Given the description of an element on the screen output the (x, y) to click on. 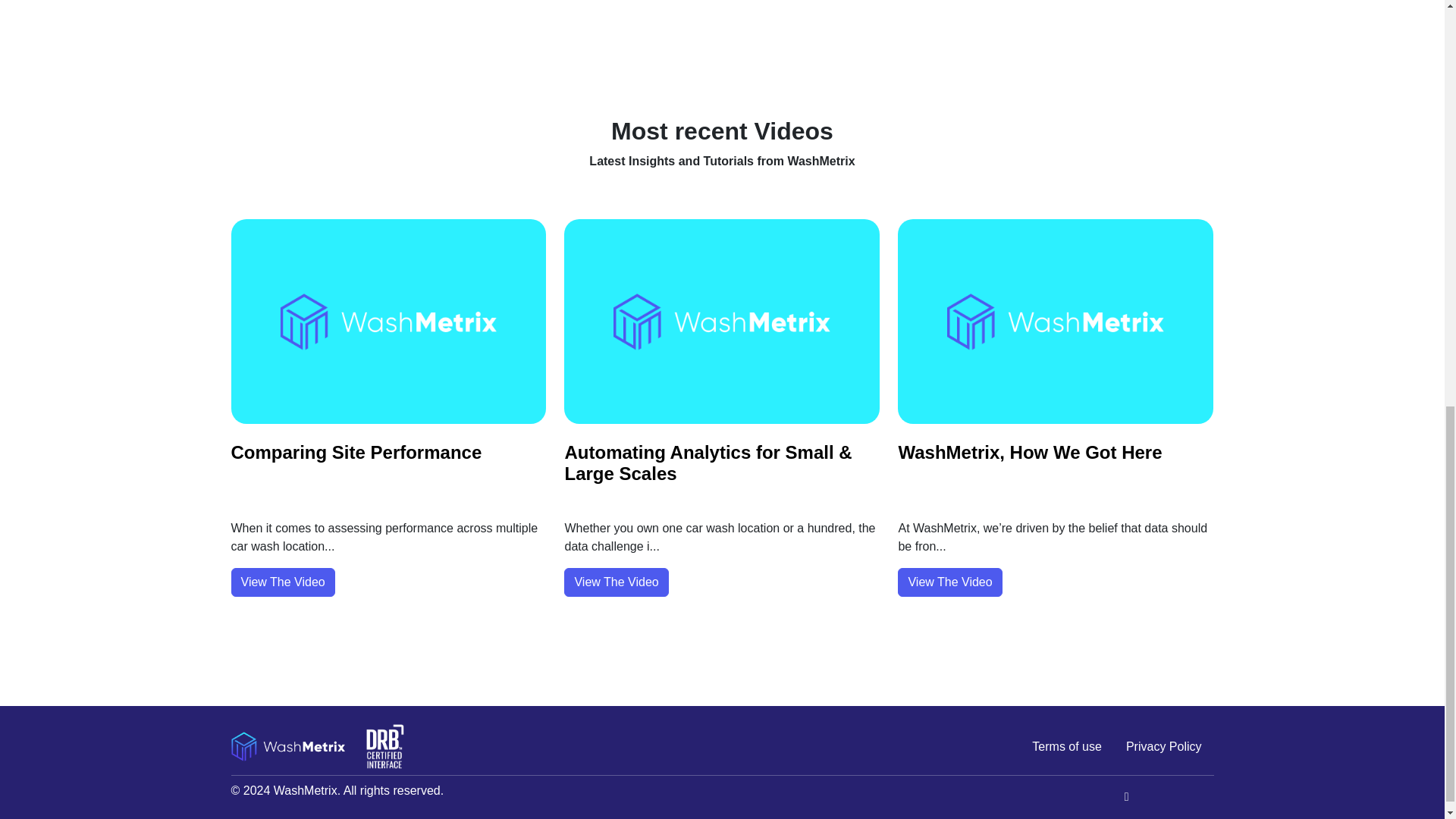
WashMetrix, How We Got Here (1029, 452)
Privacy Policy (1163, 747)
View The Video (282, 582)
View The Video (949, 582)
Terms of use (1066, 747)
YouTube video (721, 40)
Comparing Site Performance (355, 452)
View The Video (616, 582)
